Given the description of an element on the screen output the (x, y) to click on. 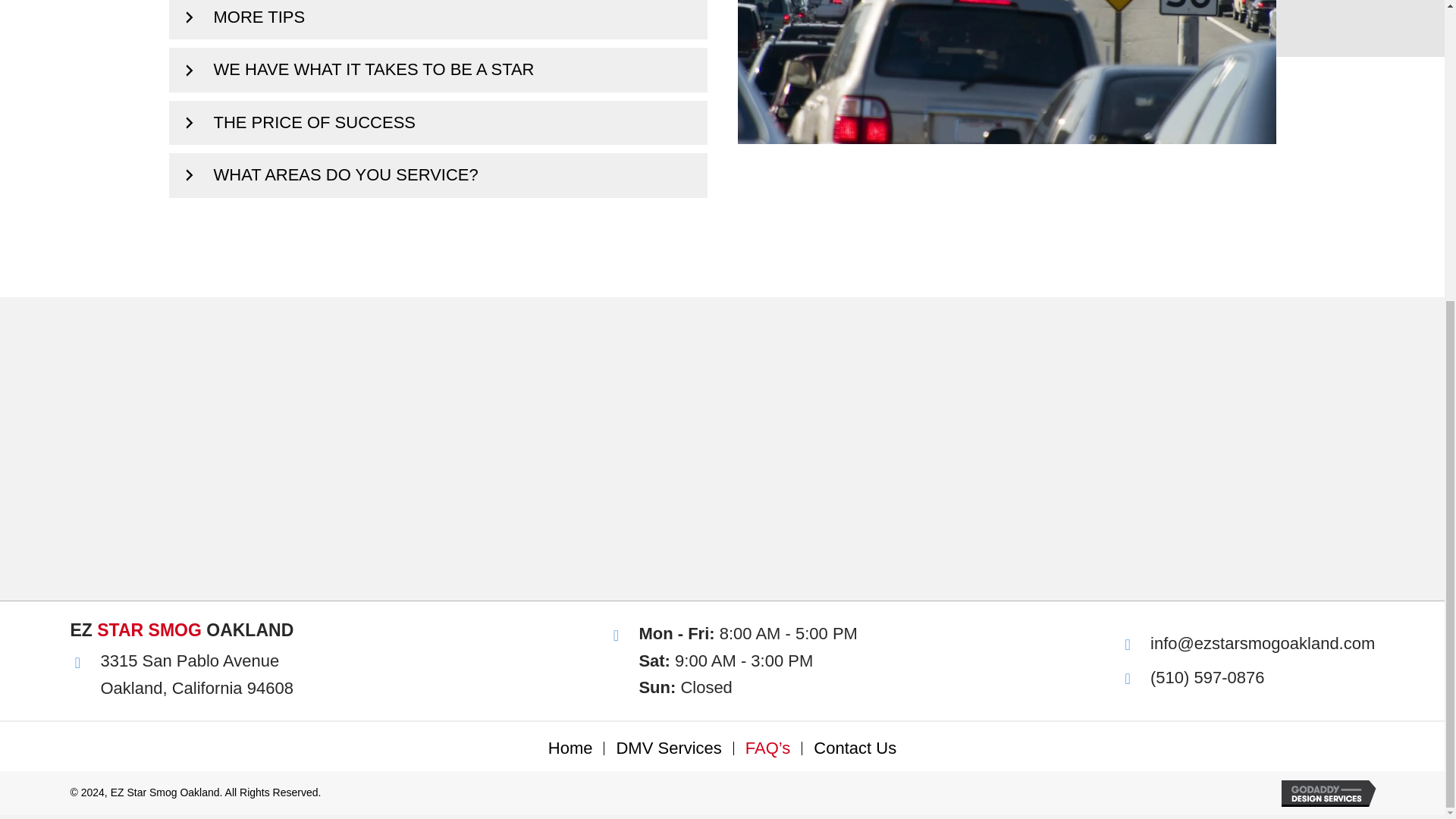
Traffic in the Road (1005, 71)
Home (570, 748)
DMV Services (668, 748)
Contact Us (854, 748)
